Given the description of an element on the screen output the (x, y) to click on. 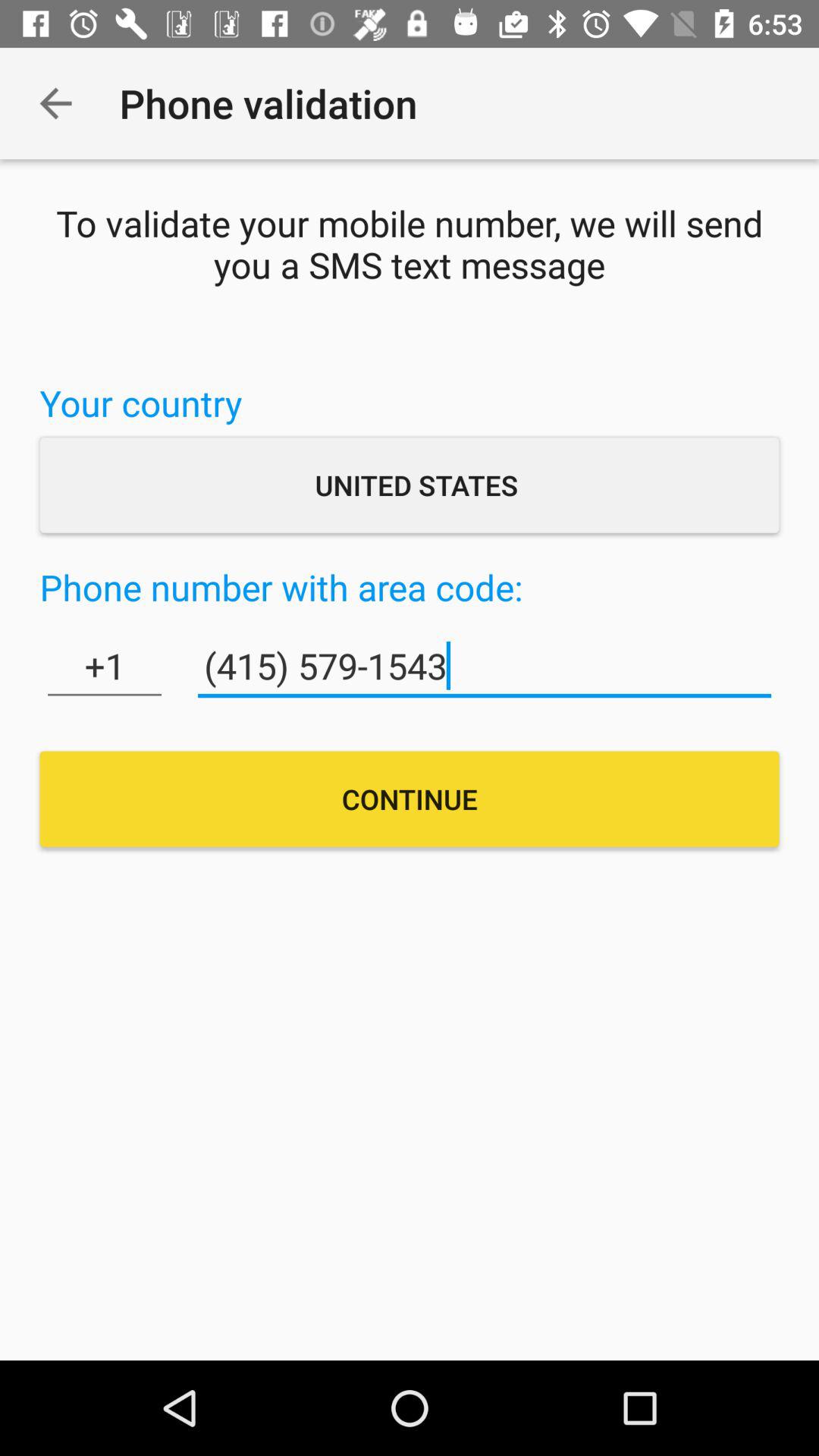
press continue item (409, 798)
